Given the description of an element on the screen output the (x, y) to click on. 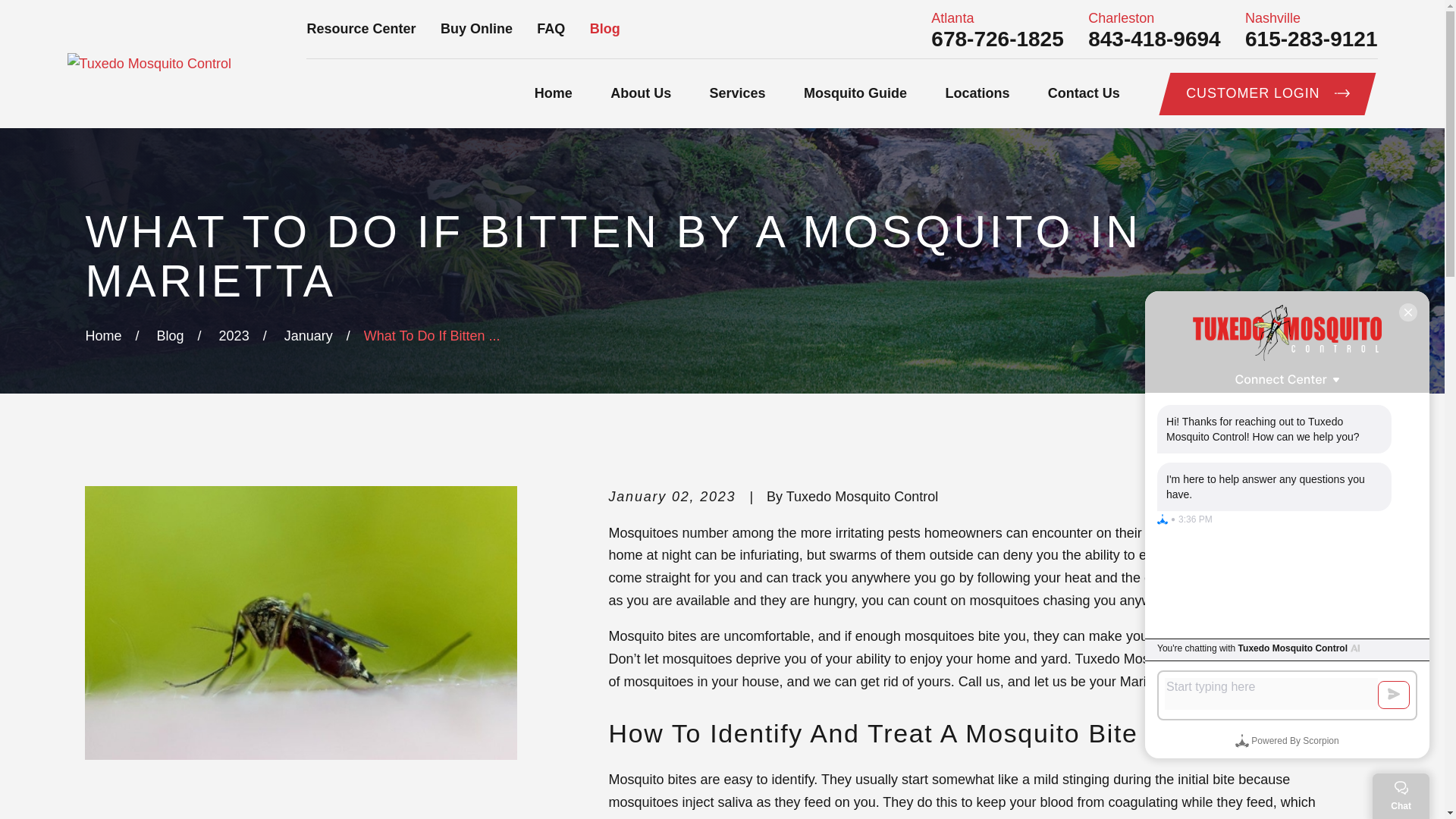
Blog (604, 28)
Resource Center (359, 28)
Home (148, 64)
Charleston (1153, 18)
FAQ (550, 28)
Services (737, 93)
Nashville (1310, 18)
Home (553, 93)
Atlanta (996, 18)
Mosquito Guide (855, 93)
678-726-1825 (996, 38)
Go Home (102, 335)
Buy Online (476, 28)
843-418-9694 (1153, 38)
Tuxedo Mosquito Control (148, 64)
